Given the description of an element on the screen output the (x, y) to click on. 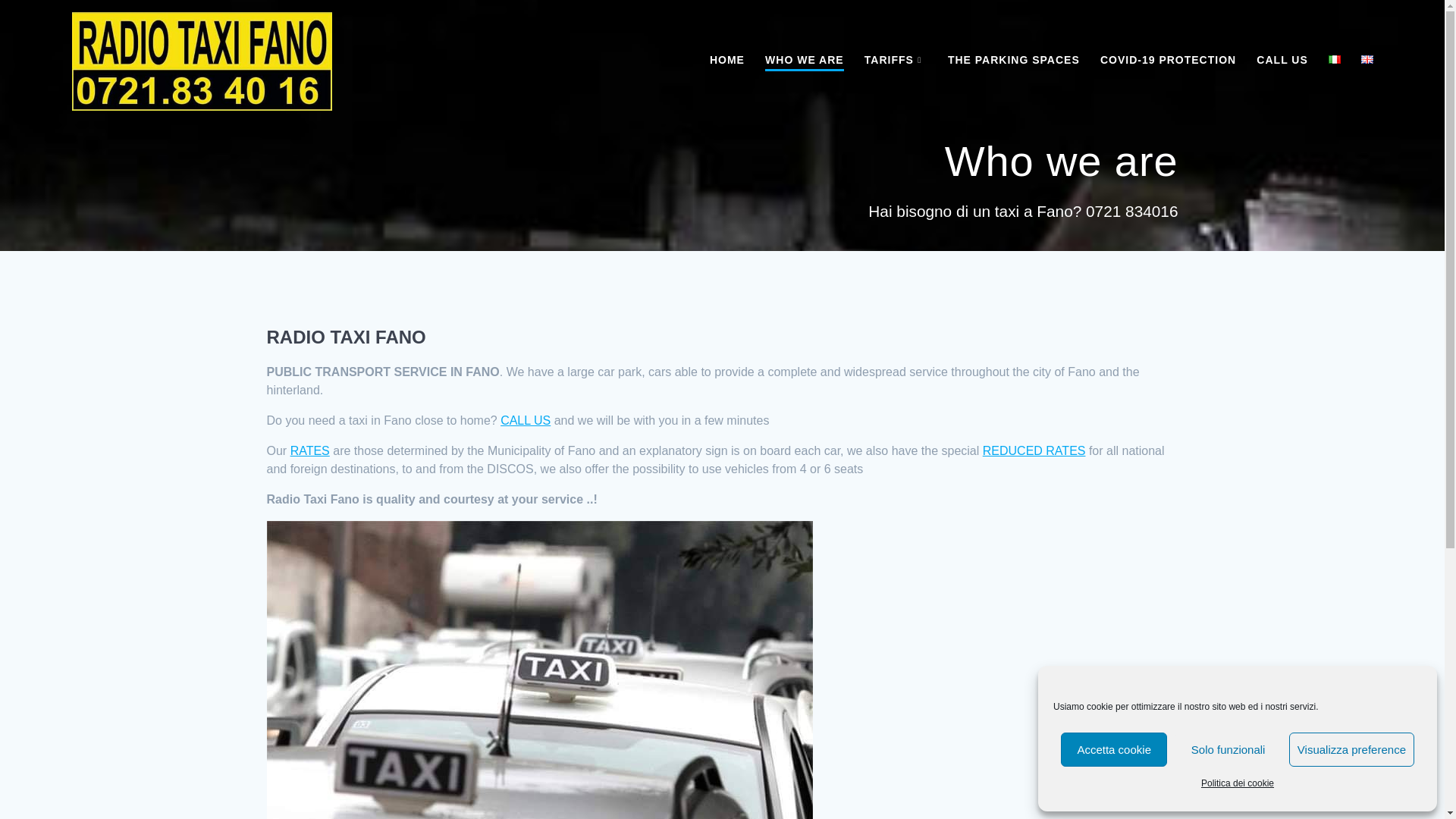
THE PARKING SPACES (1013, 59)
REDUCED RATES (1034, 450)
COVID-19 PROTECTION (1168, 59)
RATES (309, 450)
Solo funzionali (1227, 749)
Visualizza preference (1350, 749)
TARIFFS (895, 59)
CALL US (525, 420)
HOME (727, 59)
CALL US (1281, 59)
Politica dei cookie (1237, 782)
WHO WE ARE (804, 60)
Accetta cookie (1114, 749)
